Given the description of an element on the screen output the (x, y) to click on. 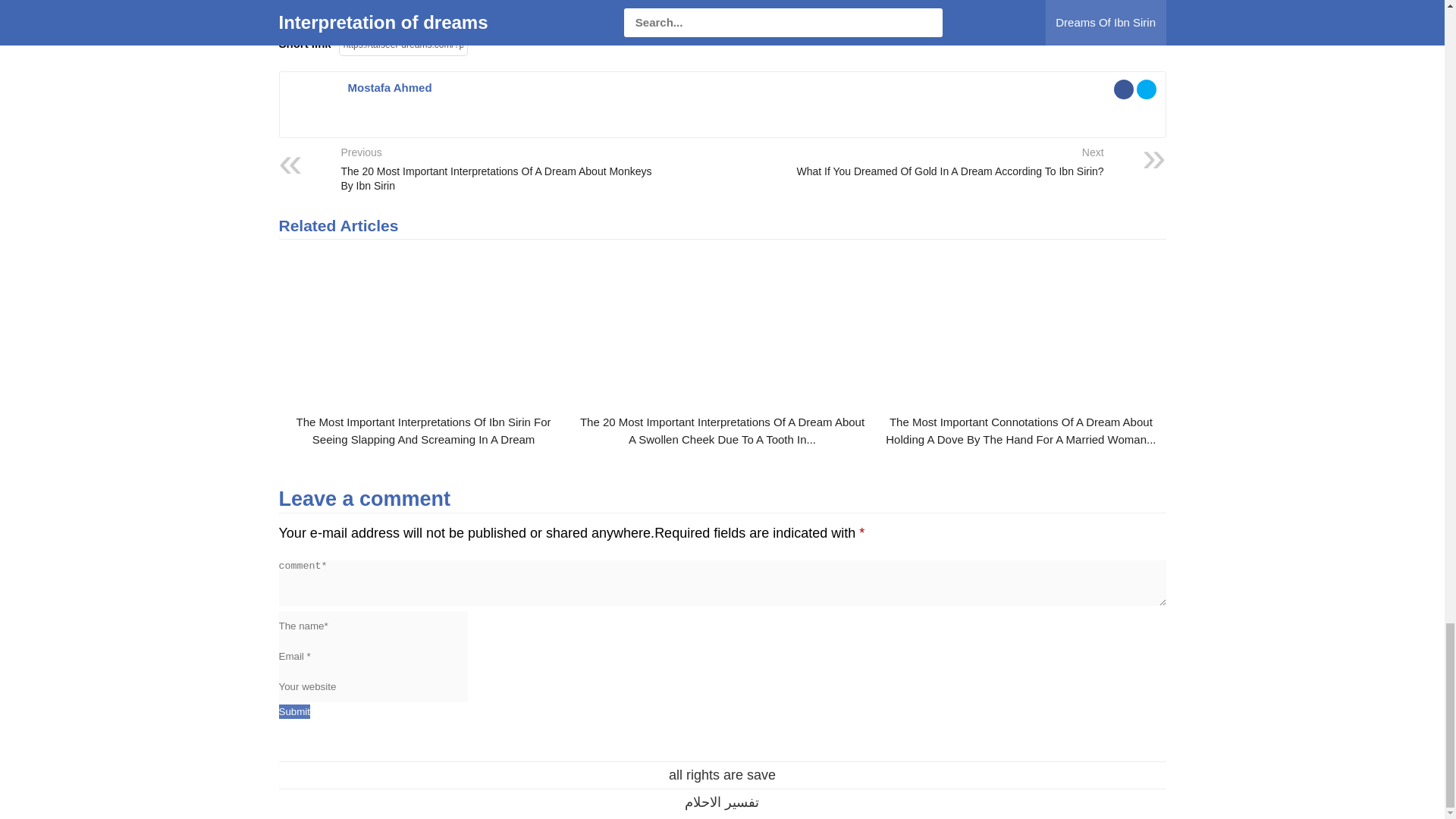
Submit (294, 711)
View all articles by: Mostafa Ahmed (388, 87)
A Small Snake Bite In A Dream (547, 14)
Mostafa Ahmed (308, 120)
Submit (294, 711)
Mostafa Ahmed (388, 87)
